Given the description of an element on the screen output the (x, y) to click on. 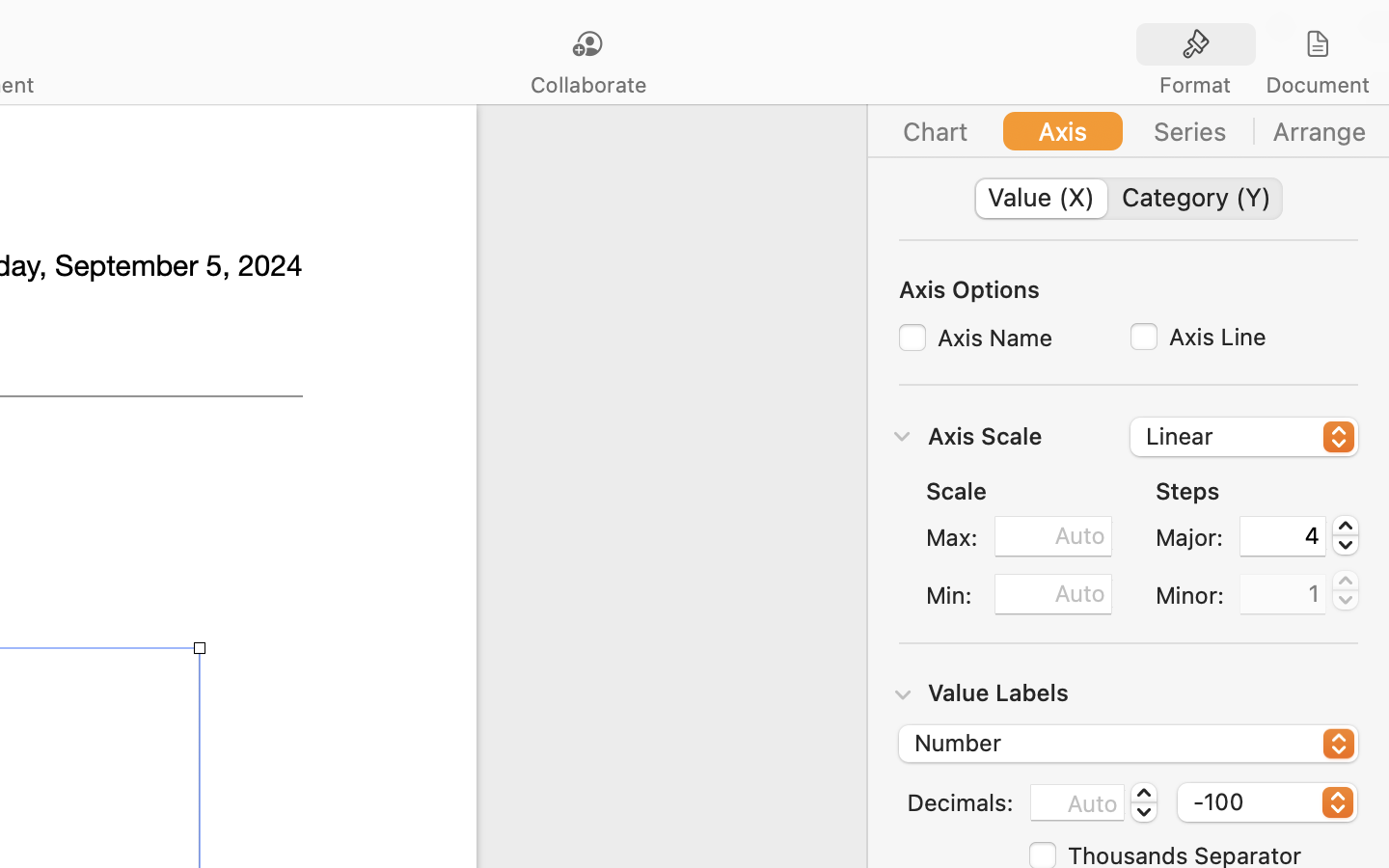
<AXUIElement 0x29ae5ff20> {pid=1482} Element type: AXGroup (1256, 45)
